Given the description of an element on the screen output the (x, y) to click on. 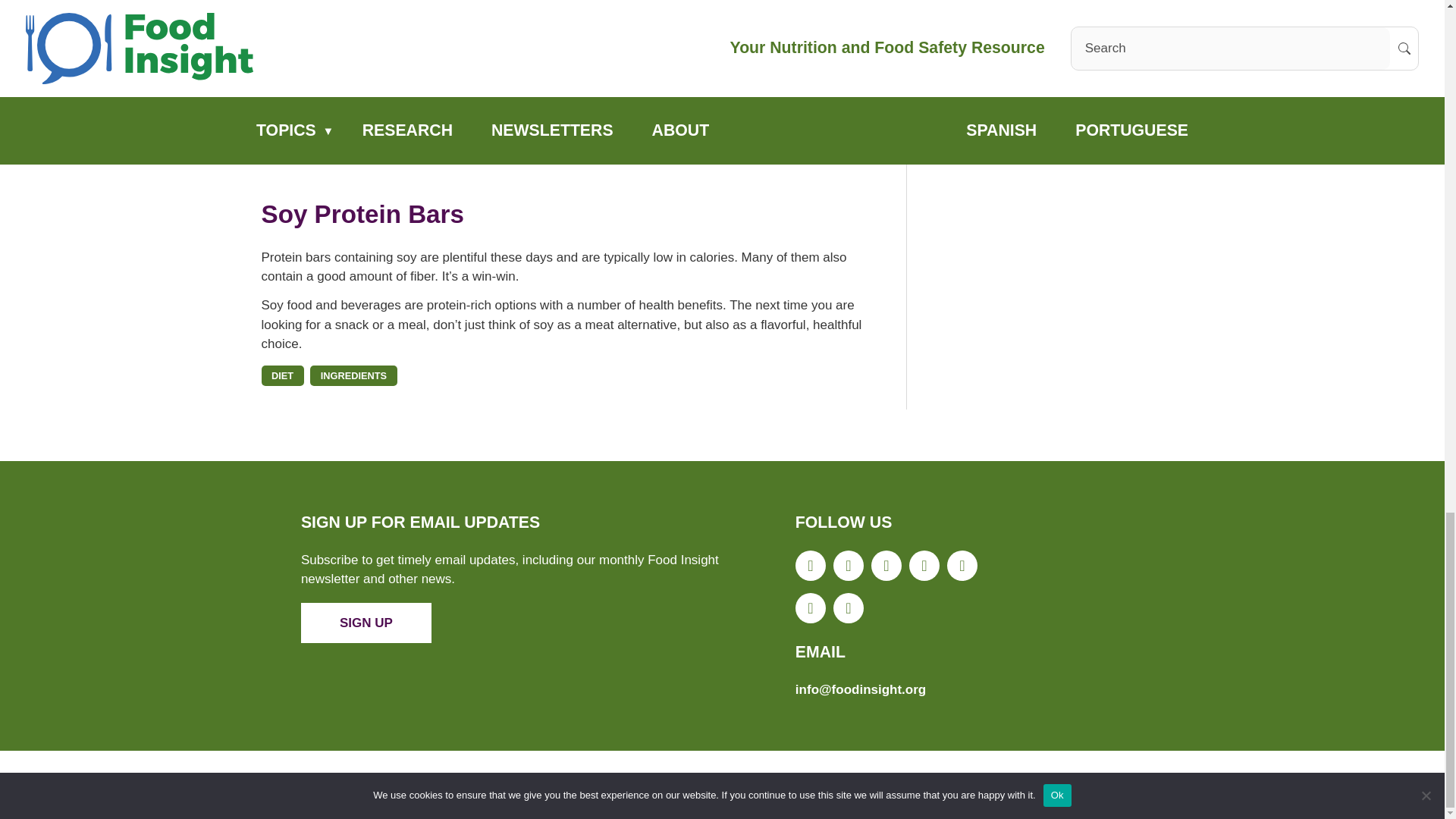
DIET (281, 375)
SIGN UP (365, 622)
INGREDIENTS (353, 375)
